Given the description of an element on the screen output the (x, y) to click on. 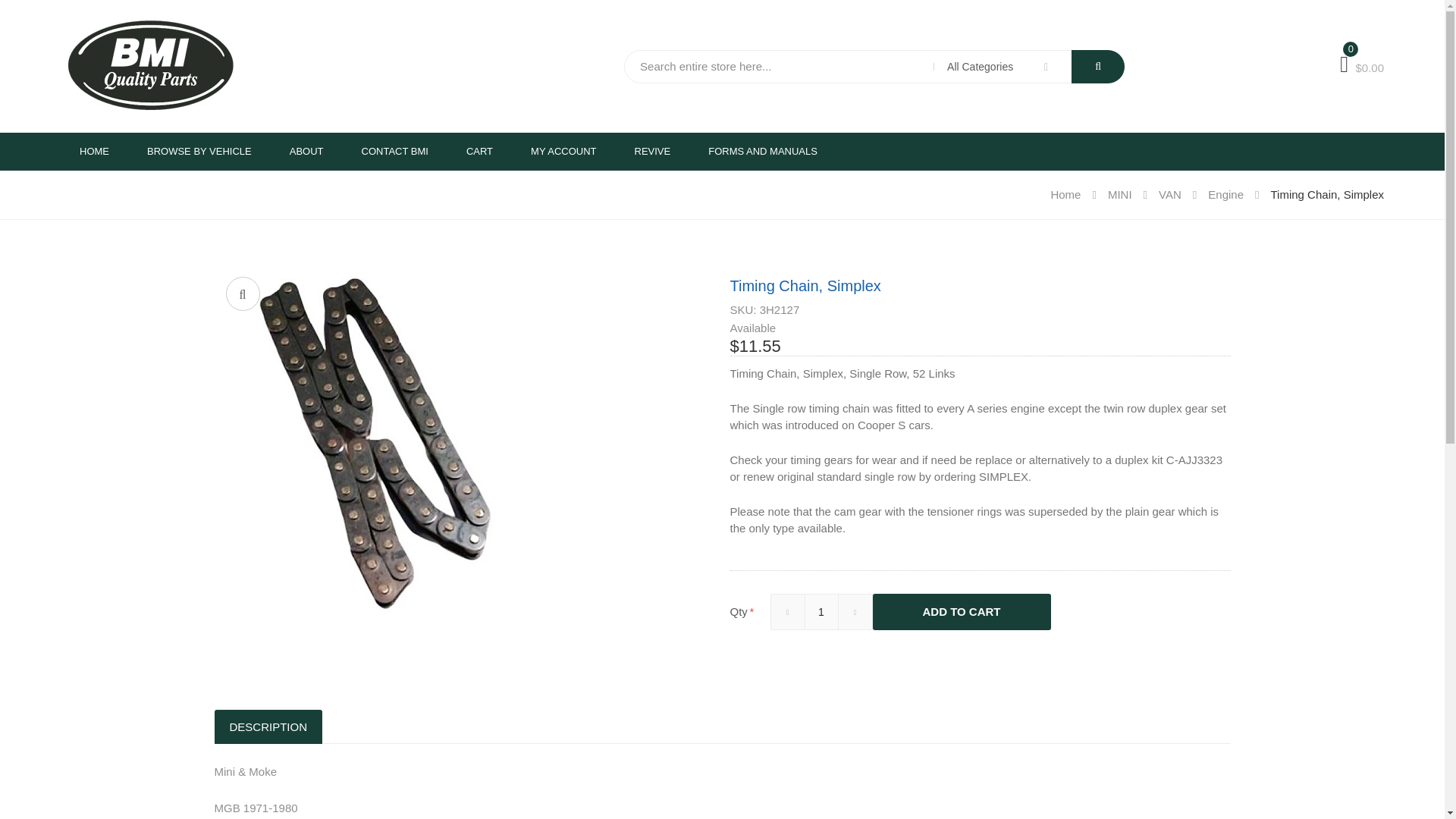
About (306, 151)
CONTACT BMI (394, 151)
Engine (1238, 194)
FORMS AND MANUALS (761, 151)
Browse By Vehicle (199, 151)
Search (1097, 66)
ABOUT (306, 151)
MY ACCOUNT (563, 151)
DESCRIPTION (267, 726)
Home (94, 151)
All Categories (1002, 66)
